Given the description of an element on the screen output the (x, y) to click on. 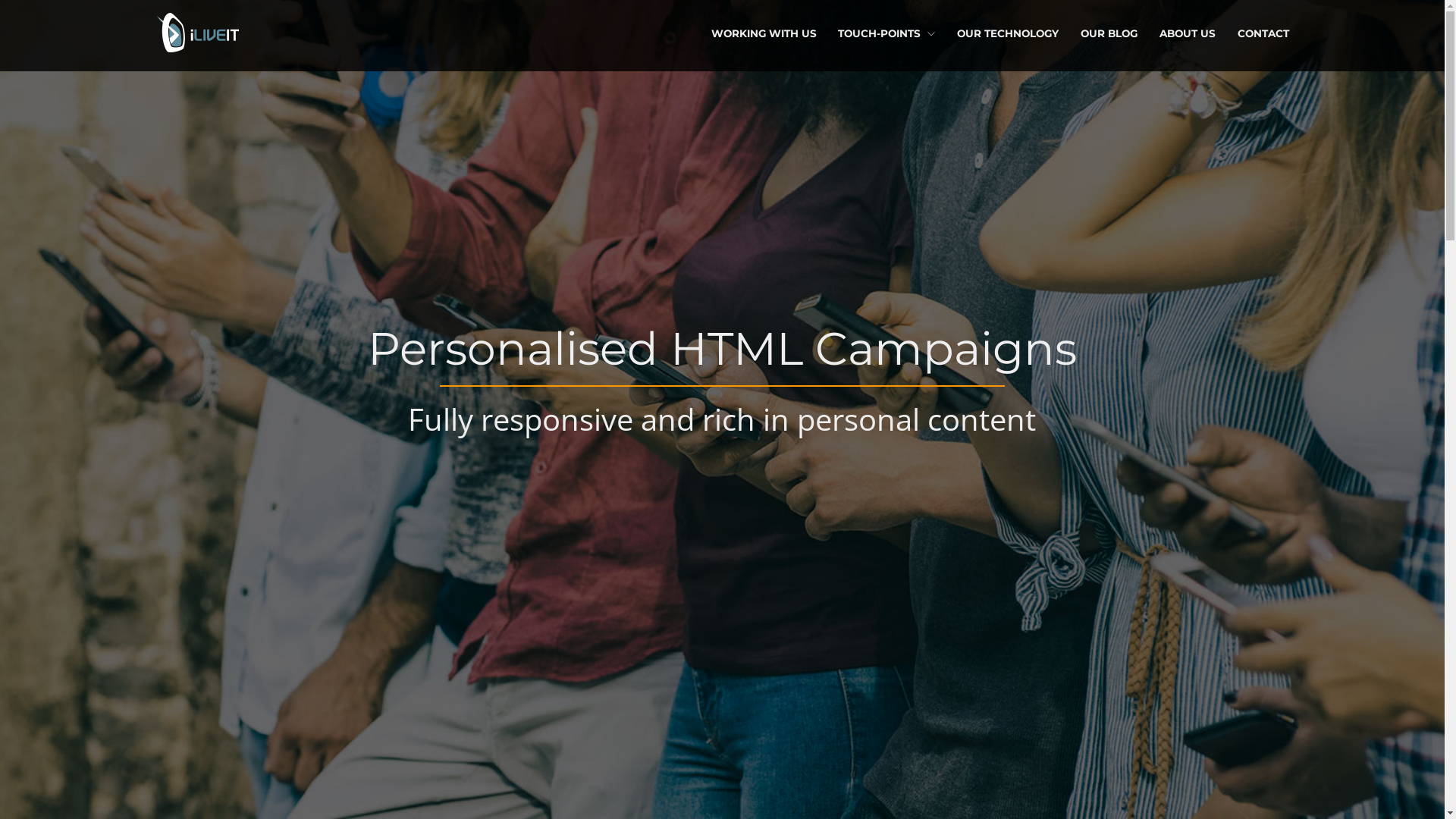
CONTACT Element type: text (1263, 33)
OUR TECHNOLOGY Element type: text (1007, 33)
WORKING WITH US Element type: text (763, 33)
TOUCH-POINTS Element type: text (886, 33)
ABOUT US Element type: text (1187, 33)
OUR BLOG Element type: text (1108, 33)
